Given the description of an element on the screen output the (x, y) to click on. 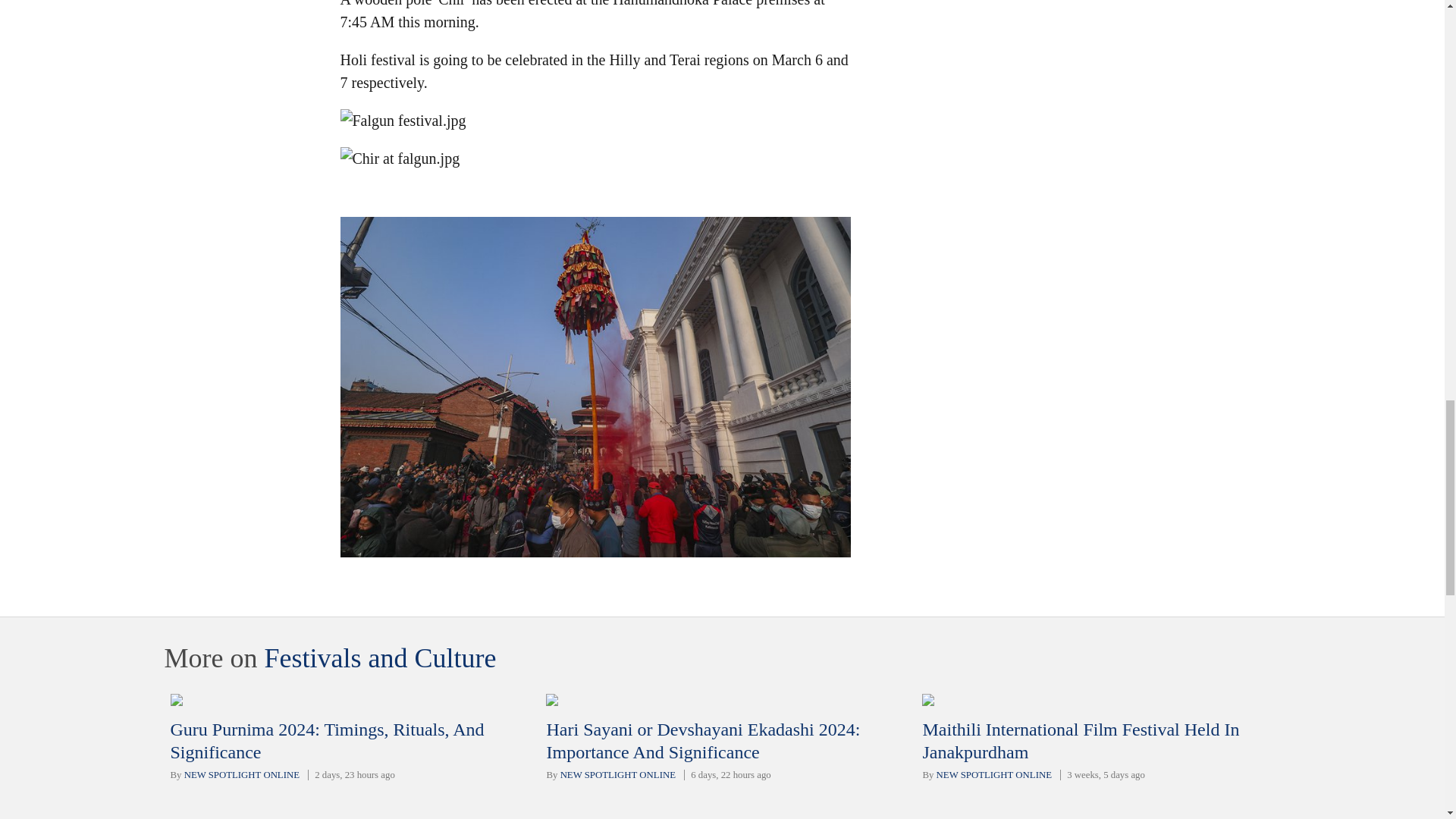
Guru Purnima 2024: Timings, Rituals, And Significance (326, 740)
Festivals and Culture (379, 657)
NEW SPOTLIGHT ONLINE (617, 774)
NEW SPOTLIGHT ONLINE (993, 774)
NEW SPOTLIGHT ONLINE (241, 774)
Maithili International Film Festival Held In Janakpurdham (1080, 740)
